Given the description of an element on the screen output the (x, y) to click on. 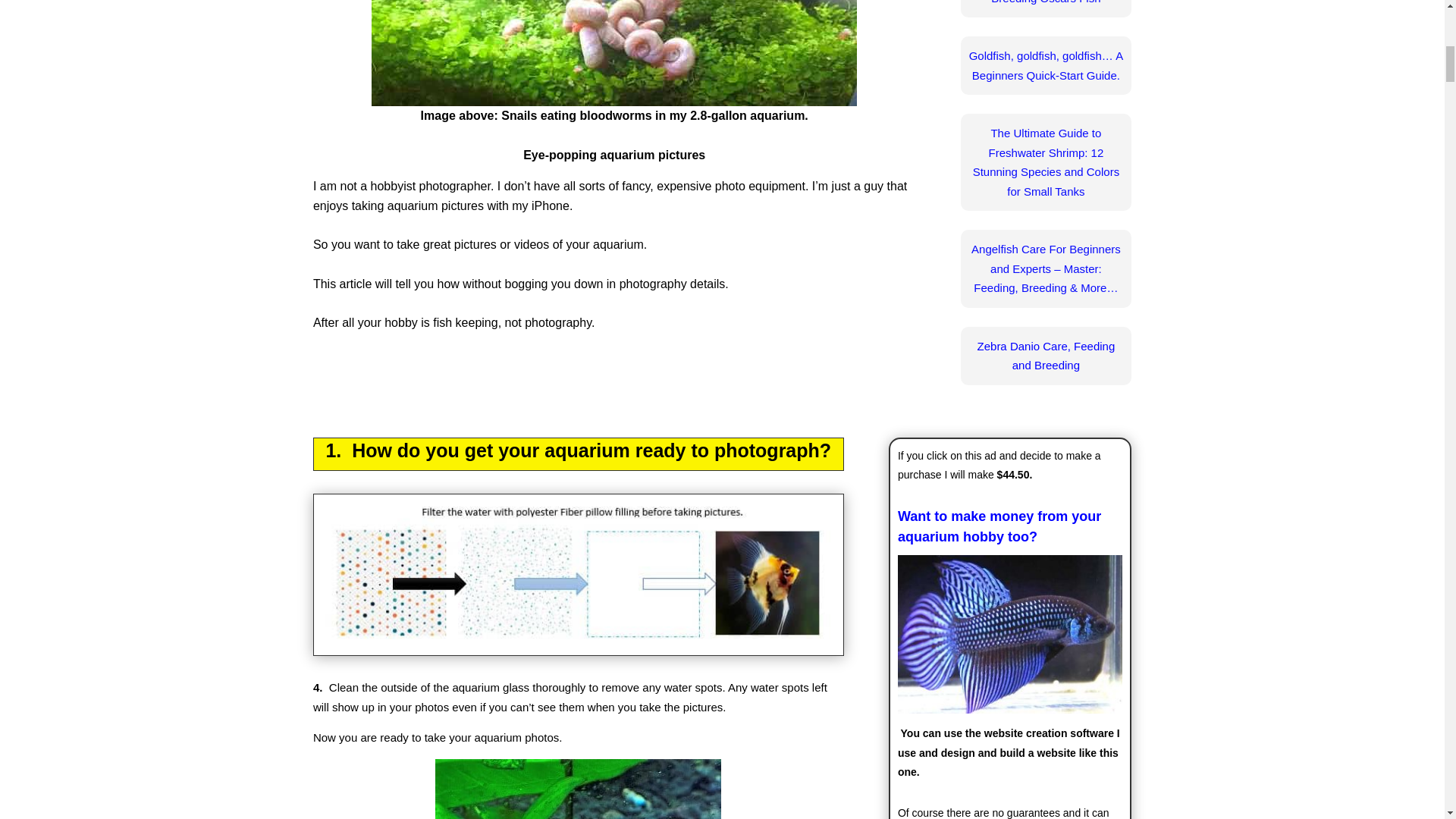
dots and fish (578, 574)
Zebra Danio Care, Feeding and Breeding (1045, 355)
How To: Keeping, Feeding and Breeding Oscars Fish (1046, 2)
4 - Copy (614, 53)
